Given the description of an element on the screen output the (x, y) to click on. 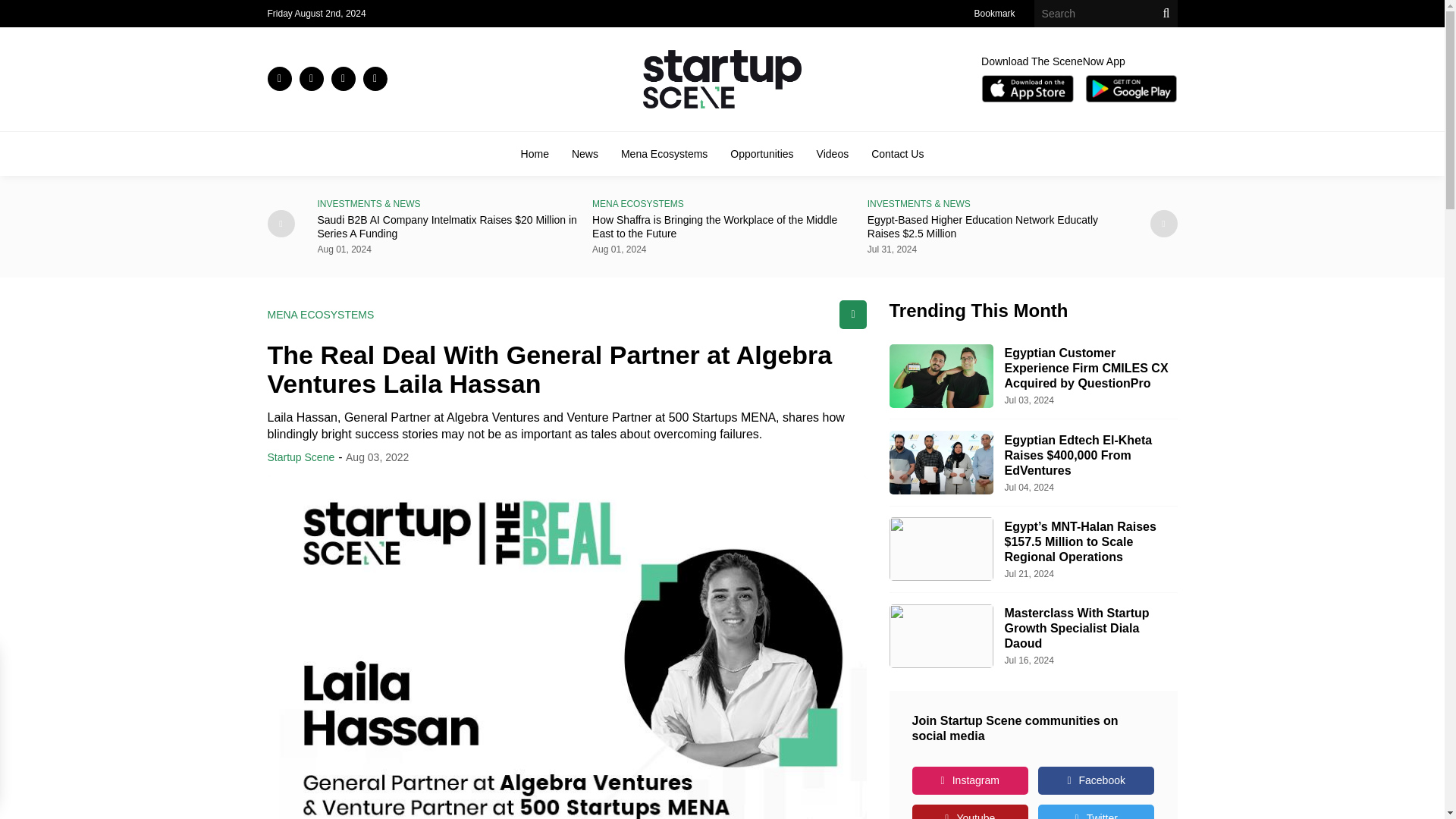
MENA ECOSYSTEMS (721, 204)
Videos (832, 153)
Bookmark (994, 13)
Mena Ecosystems (664, 153)
Contact Us (896, 153)
News (585, 153)
Opportunities (761, 153)
Home (534, 153)
